Given the description of an element on the screen output the (x, y) to click on. 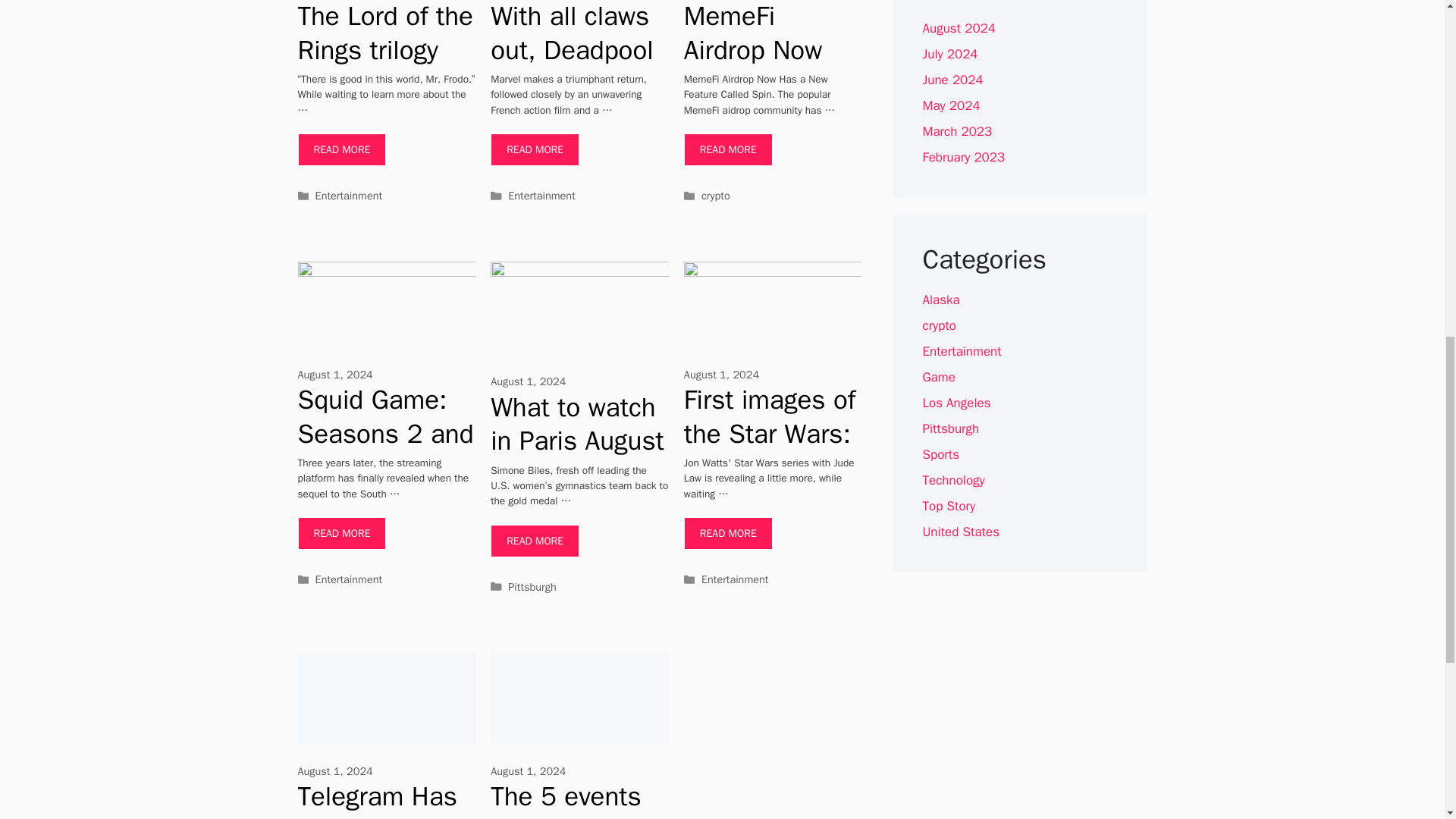
What to watch in Paris August 1 (534, 540)
MemeFi Airdrop Now Has a New Feature: Spin (728, 149)
MemeFi Airdrop Now Has a New Feature: Spin (761, 66)
First images of the Star Wars: Skeleton Crew series (728, 532)
Entertainment (348, 195)
Entertainment (348, 579)
crypto (715, 195)
READ MORE (341, 149)
READ MORE (341, 532)
READ MORE (534, 149)
Entertainment (541, 195)
Scroll back to top (1406, 720)
READ MORE (728, 149)
